Given the description of an element on the screen output the (x, y) to click on. 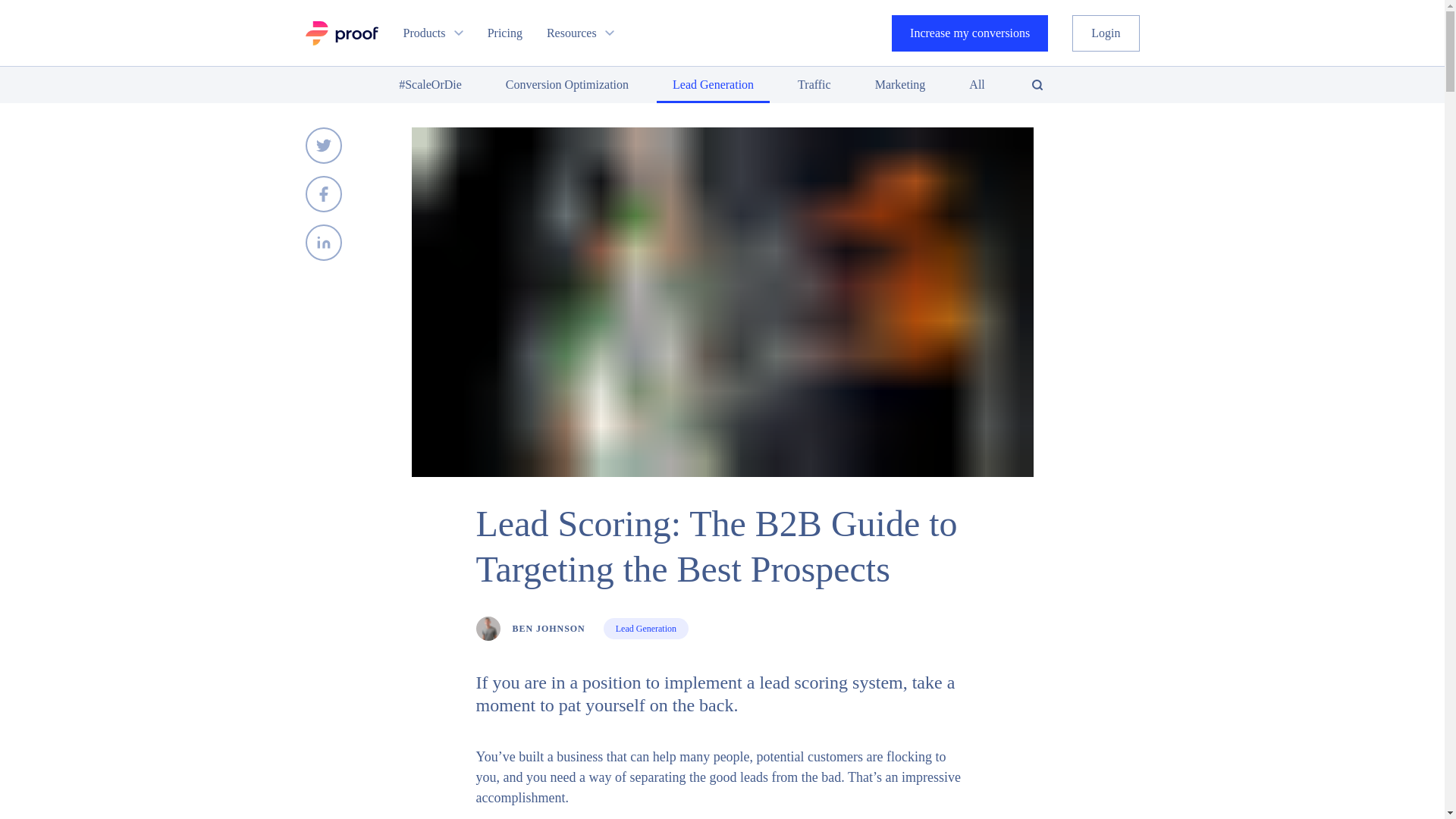
Lead Generation (713, 84)
Traffic (814, 84)
Marketing (900, 84)
BEN JOHNSON (530, 628)
Login (1104, 33)
Lead Generation (646, 628)
Conversion Optimization (567, 84)
Resources (580, 33)
Increase my conversions (969, 33)
Products (433, 33)
Pricing (504, 33)
All (976, 84)
